Given the description of an element on the screen output the (x, y) to click on. 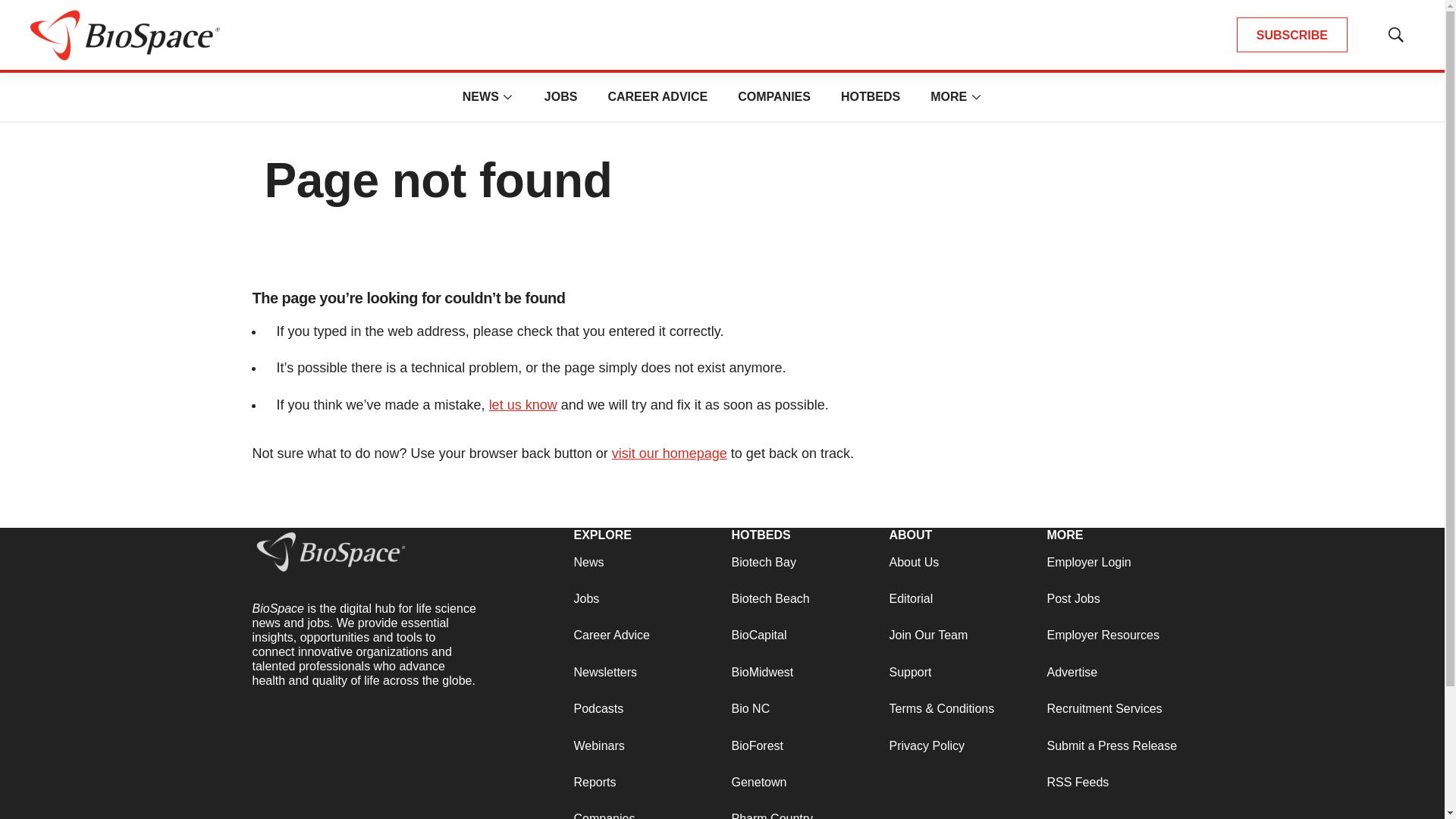
SUBSCRIBE (1292, 34)
Show Search (1395, 34)
NEWS (481, 96)
